Given the description of an element on the screen output the (x, y) to click on. 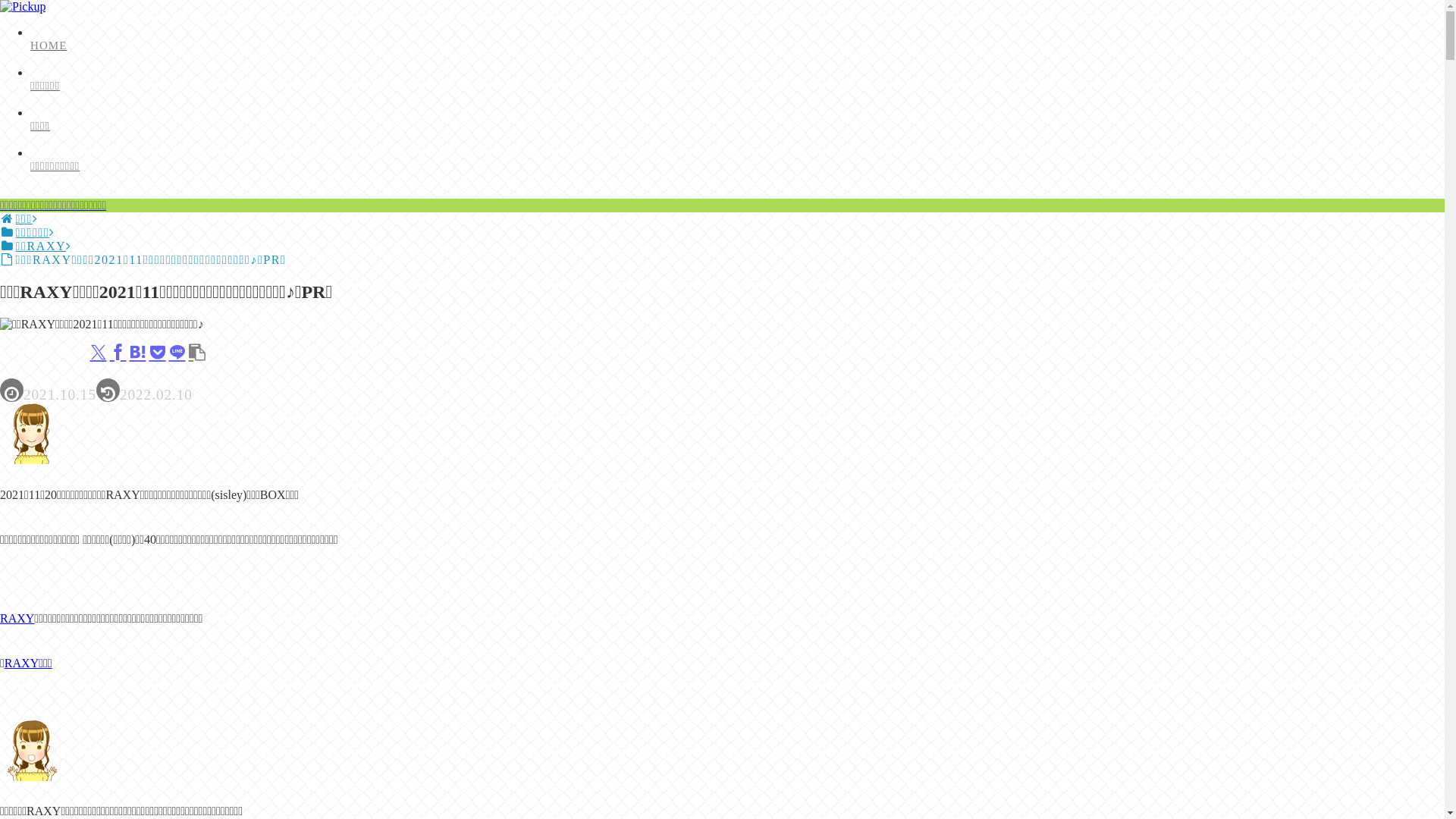
RAXY Element type: text (17, 617)
HOME Element type: text (468, 45)
